Given the description of an element on the screen output the (x, y) to click on. 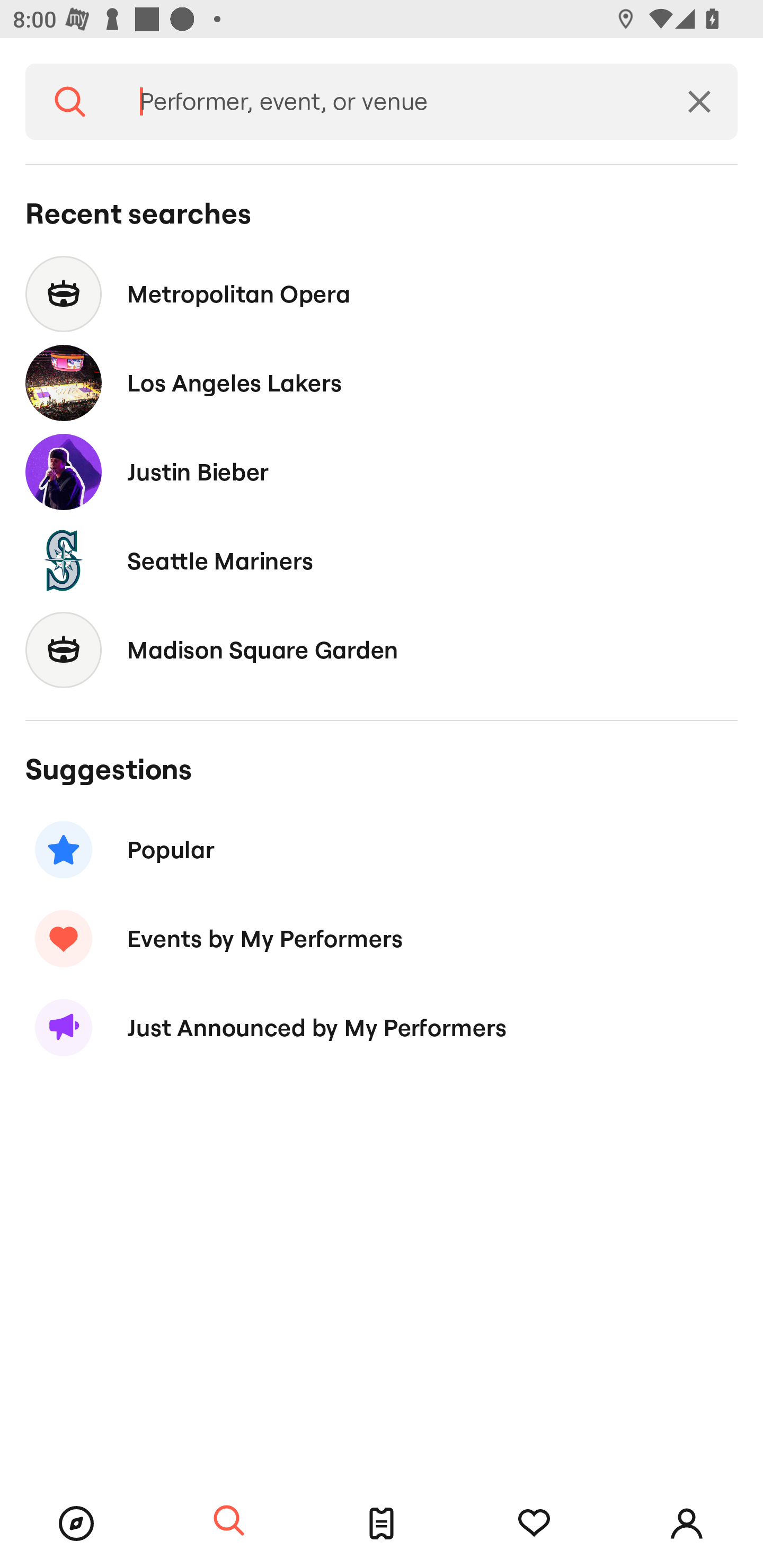
Search (69, 101)
Performer, event, or venue (387, 101)
Clear (699, 101)
Metropolitan Opera (381, 293)
Los Angeles Lakers (381, 383)
Justin Bieber (381, 471)
Seattle Mariners (381, 560)
Madison Square Garden (381, 649)
Popular (381, 849)
Events by My Performers (381, 938)
Just Announced by My Performers (381, 1027)
Browse (76, 1523)
Search (228, 1521)
Tickets (381, 1523)
Tracking (533, 1523)
Account (686, 1523)
